Given the description of an element on the screen output the (x, y) to click on. 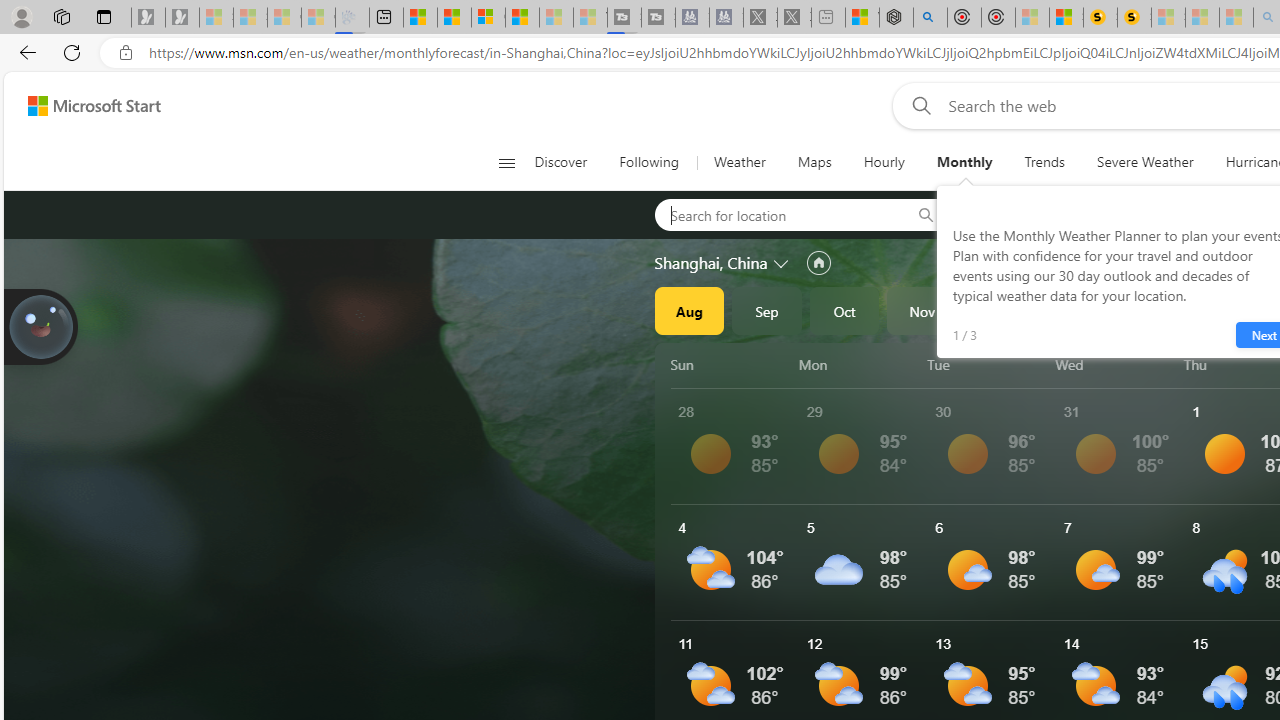
Monthly (964, 162)
Hourly (884, 162)
Class: button-glyph (505, 162)
Tue (987, 363)
Aug (689, 310)
